Given the description of an element on the screen output the (x, y) to click on. 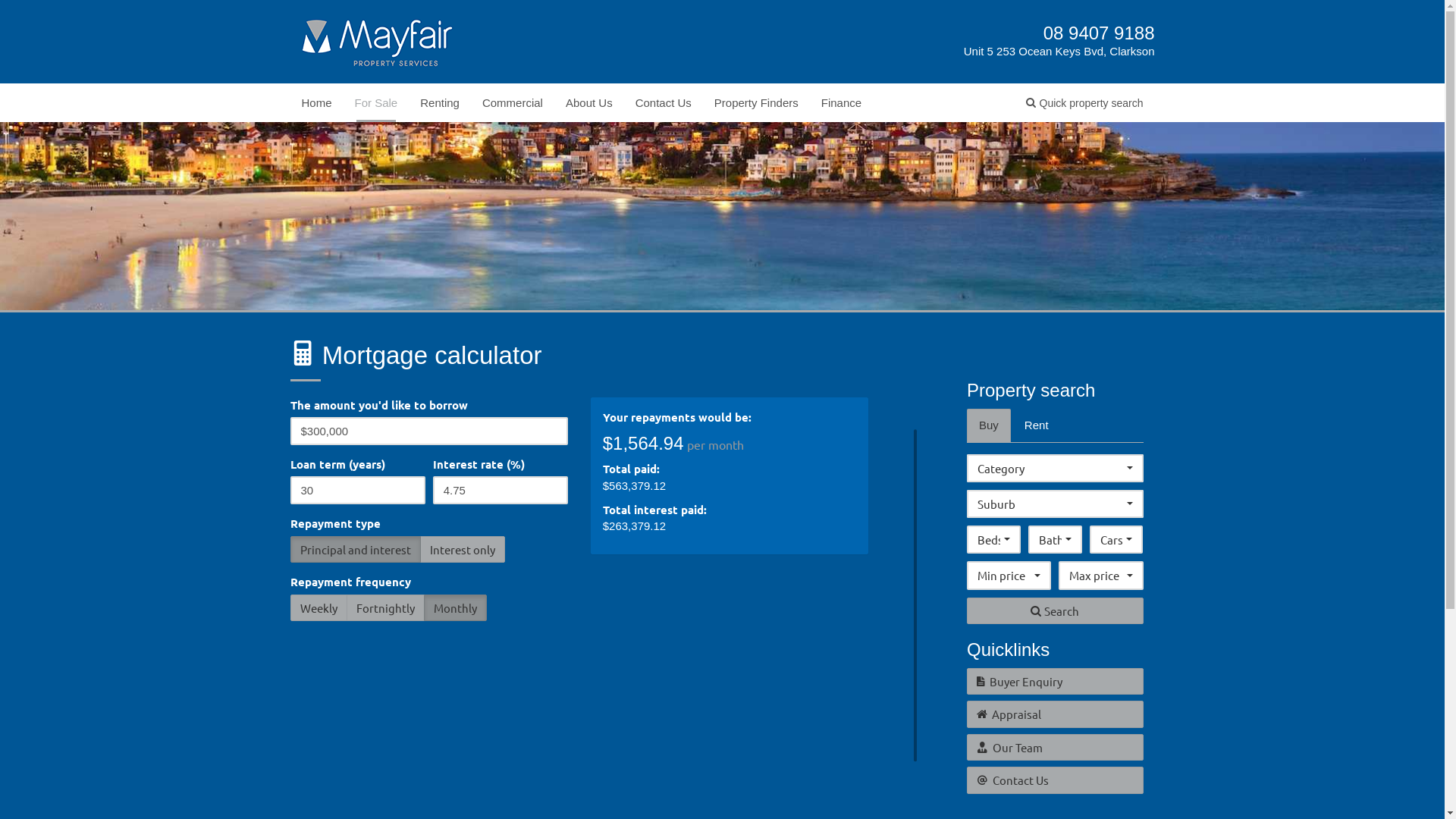
Search Element type: text (1054, 610)
Commercial Element type: text (512, 102)
Renting Element type: text (439, 102)
About Us Element type: text (589, 102)
Suburb
  Element type: text (1054, 503)
Rent Element type: text (1036, 424)
Cars
  Element type: text (1116, 539)
Category
  Element type: text (1054, 468)
Baths
  Element type: text (1055, 539)
Buyer Enquiry Element type: text (1054, 681)
Quick property search Element type: text (1084, 102)
Contact Us Element type: text (663, 102)
Buy Element type: text (988, 424)
For Sale Element type: text (376, 102)
Appraisal Element type: text (1054, 713)
Mayfair WA Property Services Element type: hover (377, 40)
Property Finders Element type: text (755, 102)
Contact Us Element type: text (1054, 779)
Beds
  Element type: text (993, 539)
Max price
  Element type: text (1100, 575)
Our Team Element type: text (1054, 747)
Finance Element type: text (840, 102)
Min price
  Element type: text (1008, 575)
Home Element type: text (315, 102)
